Given the description of an element on the screen output the (x, y) to click on. 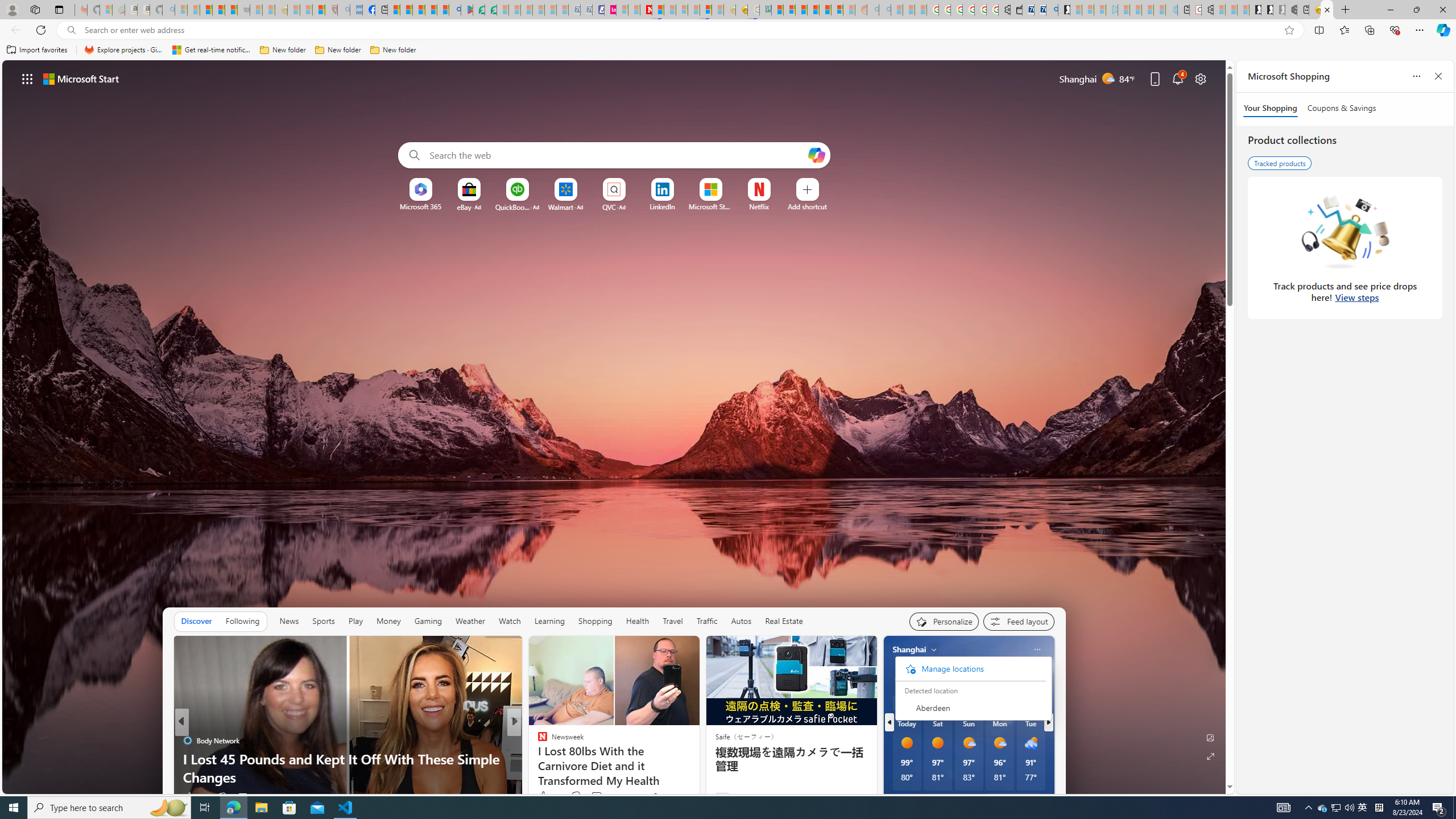
Daily (942, 703)
383 Like (548, 795)
Wallet (1016, 9)
Favorites bar (728, 49)
Real Estate (783, 621)
Weather (470, 621)
Trusted Community Engagement and Contributions | Guidelines (657, 9)
